Given the description of an element on the screen output the (x, y) to click on. 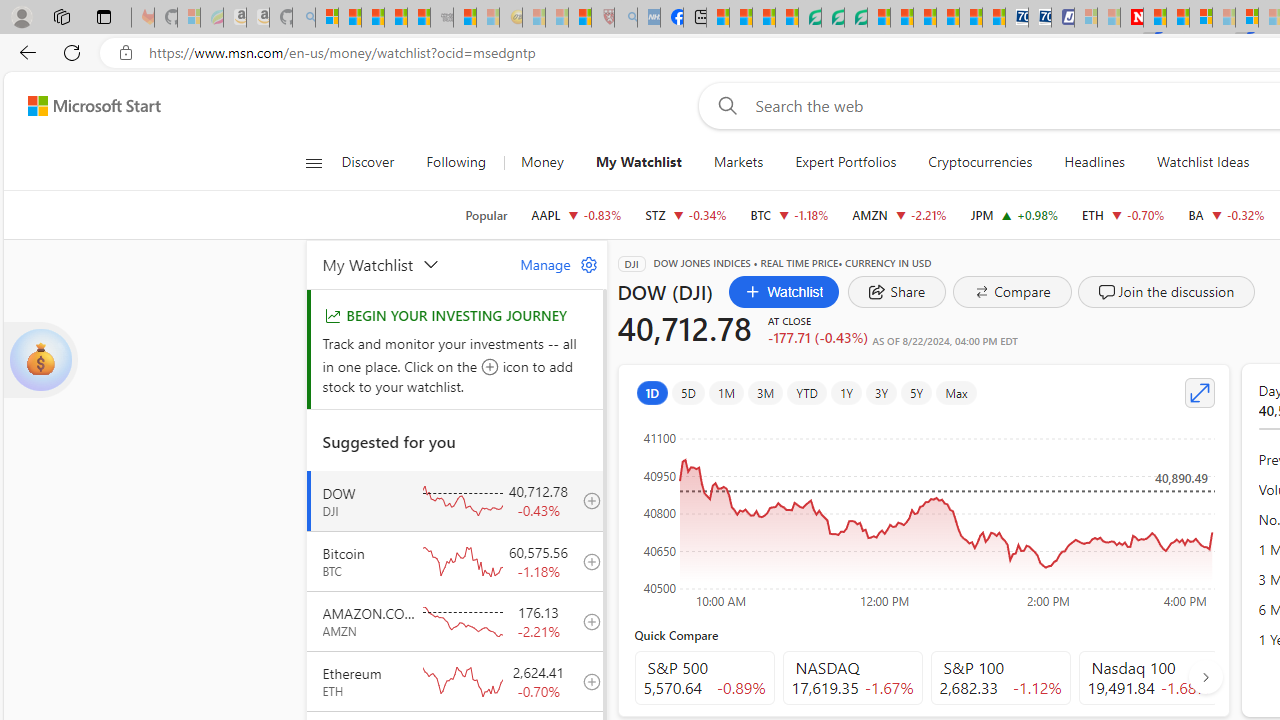
3M (765, 392)
My Watchlist (637, 162)
ETH Ethereum decrease 2,624.41 -18.32 -0.70% (1123, 214)
1M (725, 392)
My Watchlist (638, 162)
Local - MSN (580, 17)
